Given the description of an element on the screen output the (x, y) to click on. 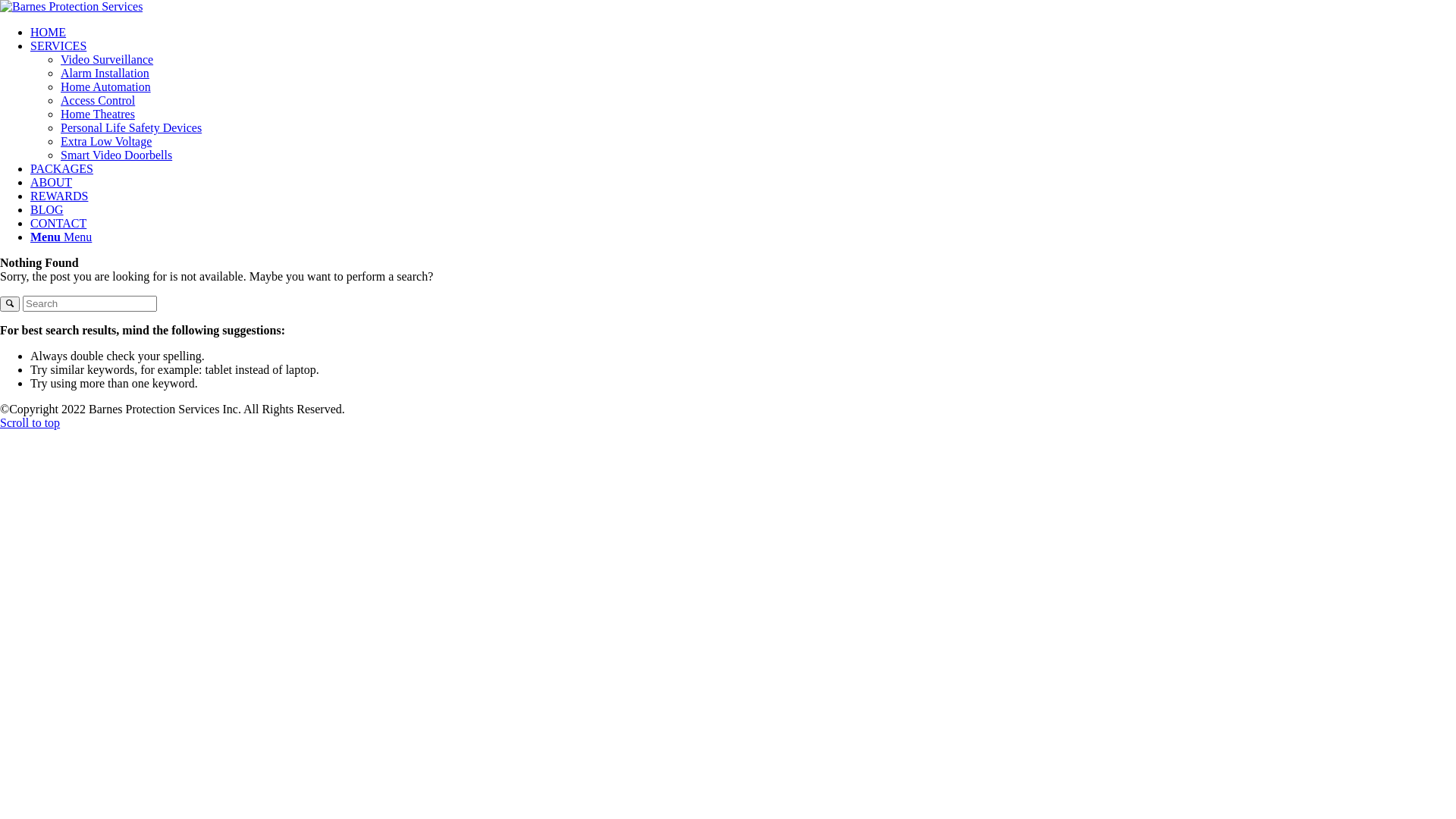
Home Theatres Element type: text (97, 113)
Barnes Protection Services logo Element type: hover (71, 6)
SERVICES Element type: text (58, 45)
CONTACT Element type: text (58, 222)
Scroll to top Element type: text (29, 422)
REWARDS Element type: text (58, 195)
Menu Menu Element type: text (60, 236)
ABOUT Element type: text (51, 181)
Alarm Installation Element type: text (104, 72)
Personal Life Safety Devices Element type: text (130, 127)
HOME Element type: text (47, 31)
Home Automation Element type: text (105, 86)
Extra Low Voltage Element type: text (105, 140)
BLOG Element type: text (46, 209)
Video Surveillance Element type: text (106, 59)
Smart Video Doorbells Element type: text (116, 154)
PACKAGES Element type: text (61, 168)
Access Control Element type: text (97, 100)
